Given the description of an element on the screen output the (x, y) to click on. 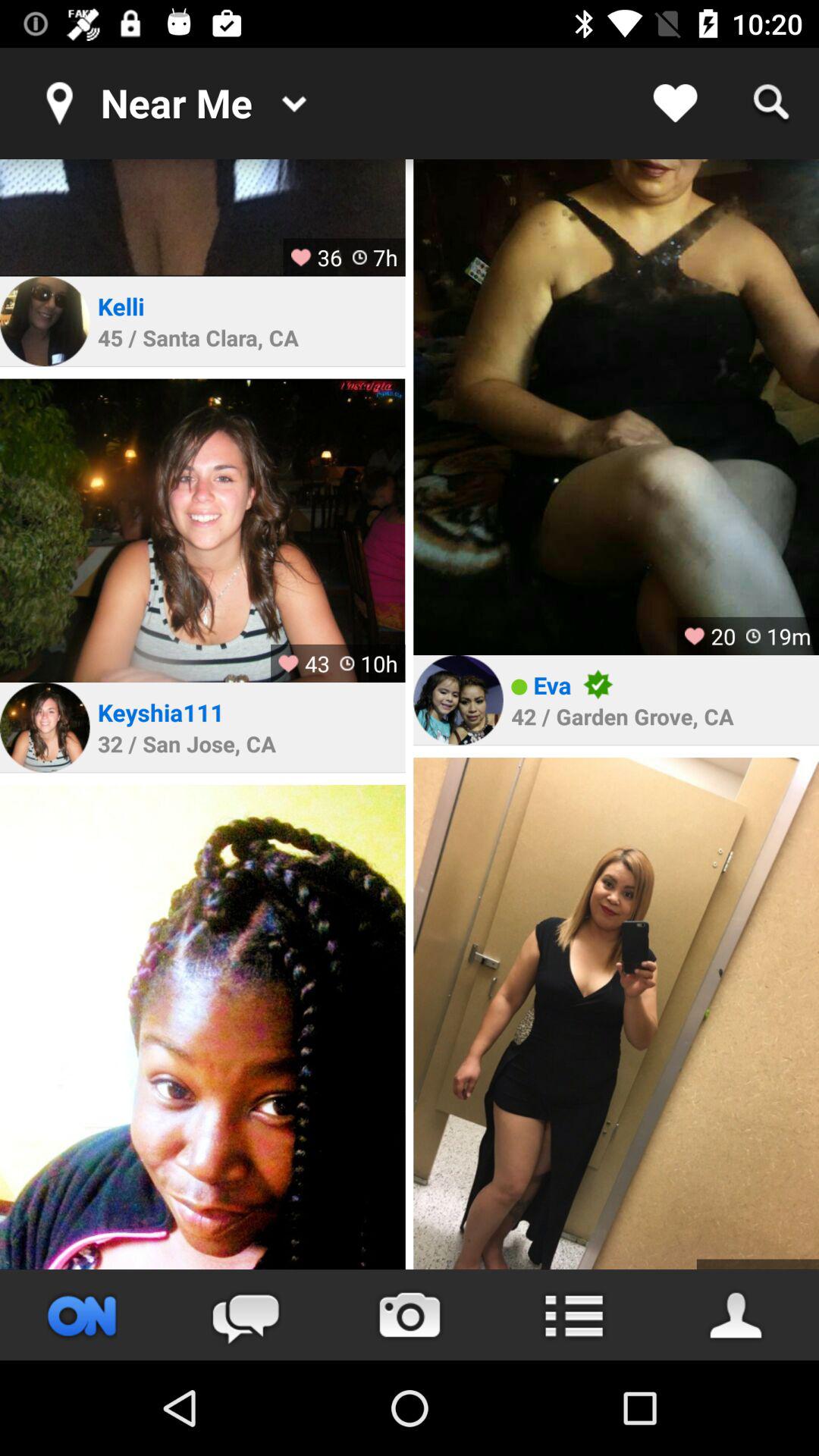
swipe until the eva (552, 684)
